Given the description of an element on the screen output the (x, y) to click on. 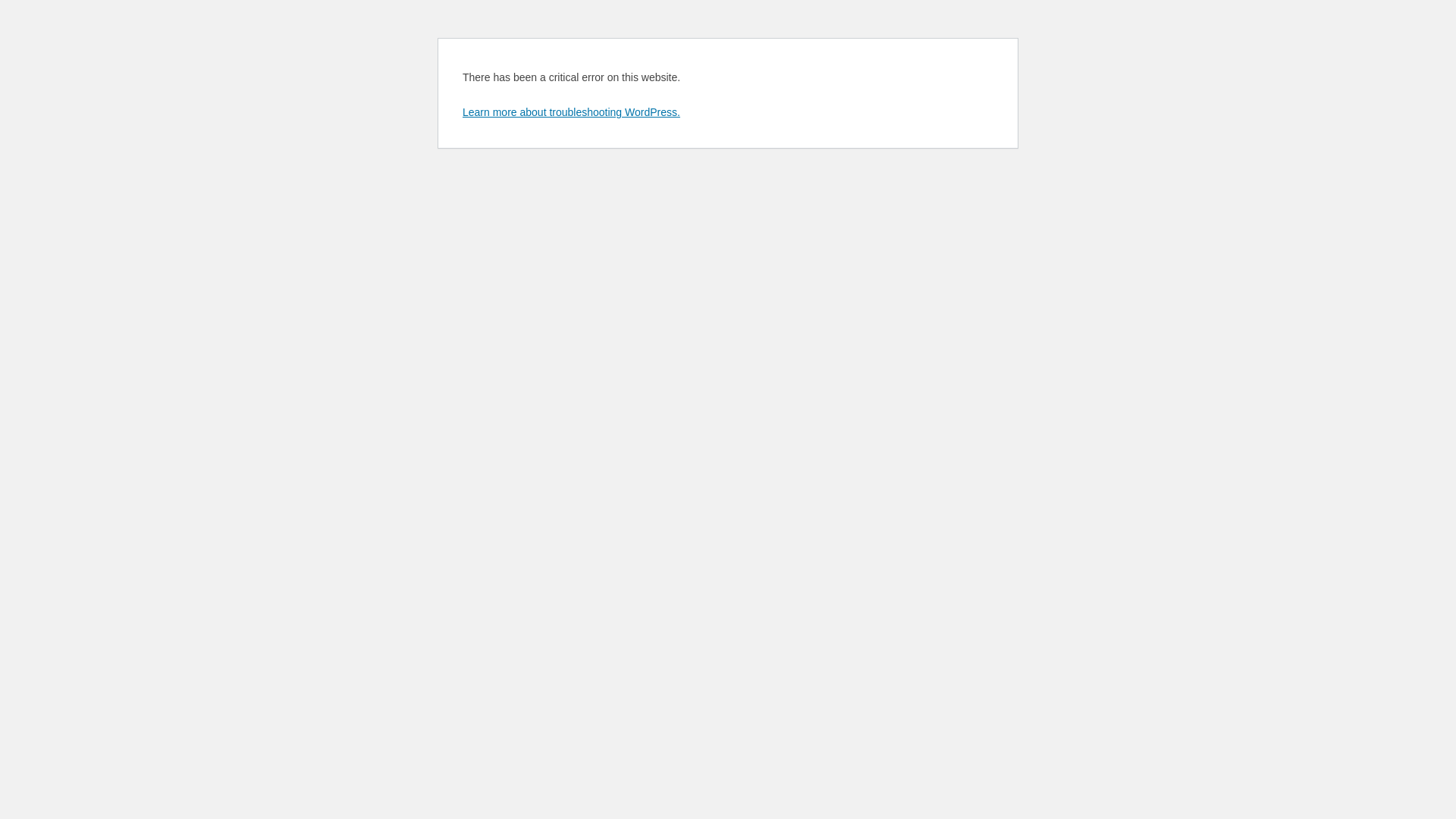
Learn more about troubleshooting WordPress. Element type: text (571, 112)
